Given the description of an element on the screen output the (x, y) to click on. 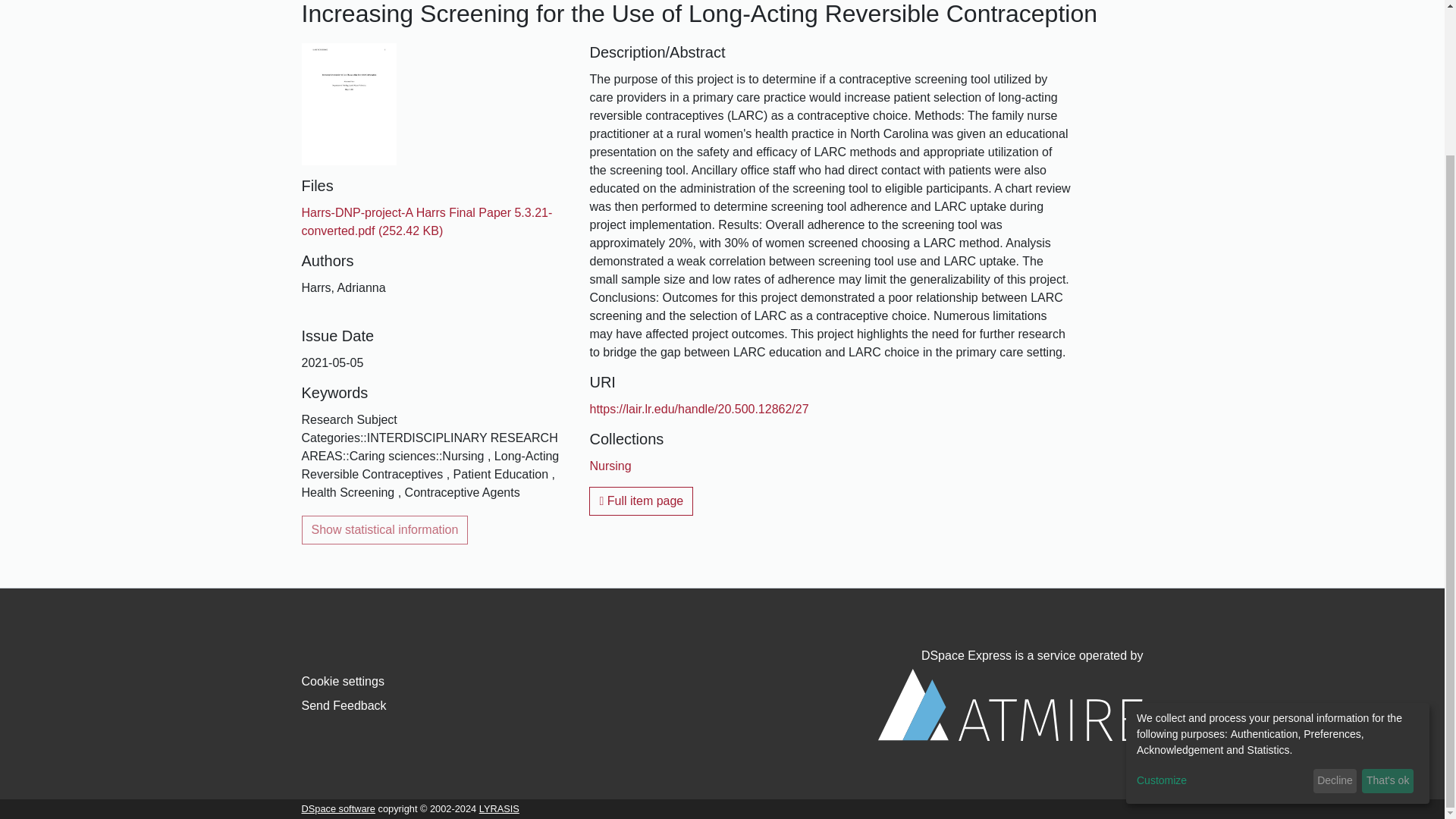
Decline (1334, 599)
Nursing (609, 465)
That's ok (1387, 599)
DSpace software (338, 808)
Show statistical information (384, 529)
LYRASIS (499, 808)
Cookie settings (342, 680)
DSpace Express is a service operated by (1009, 695)
Customize (1222, 599)
Send Feedback (344, 705)
